Given the description of an element on the screen output the (x, y) to click on. 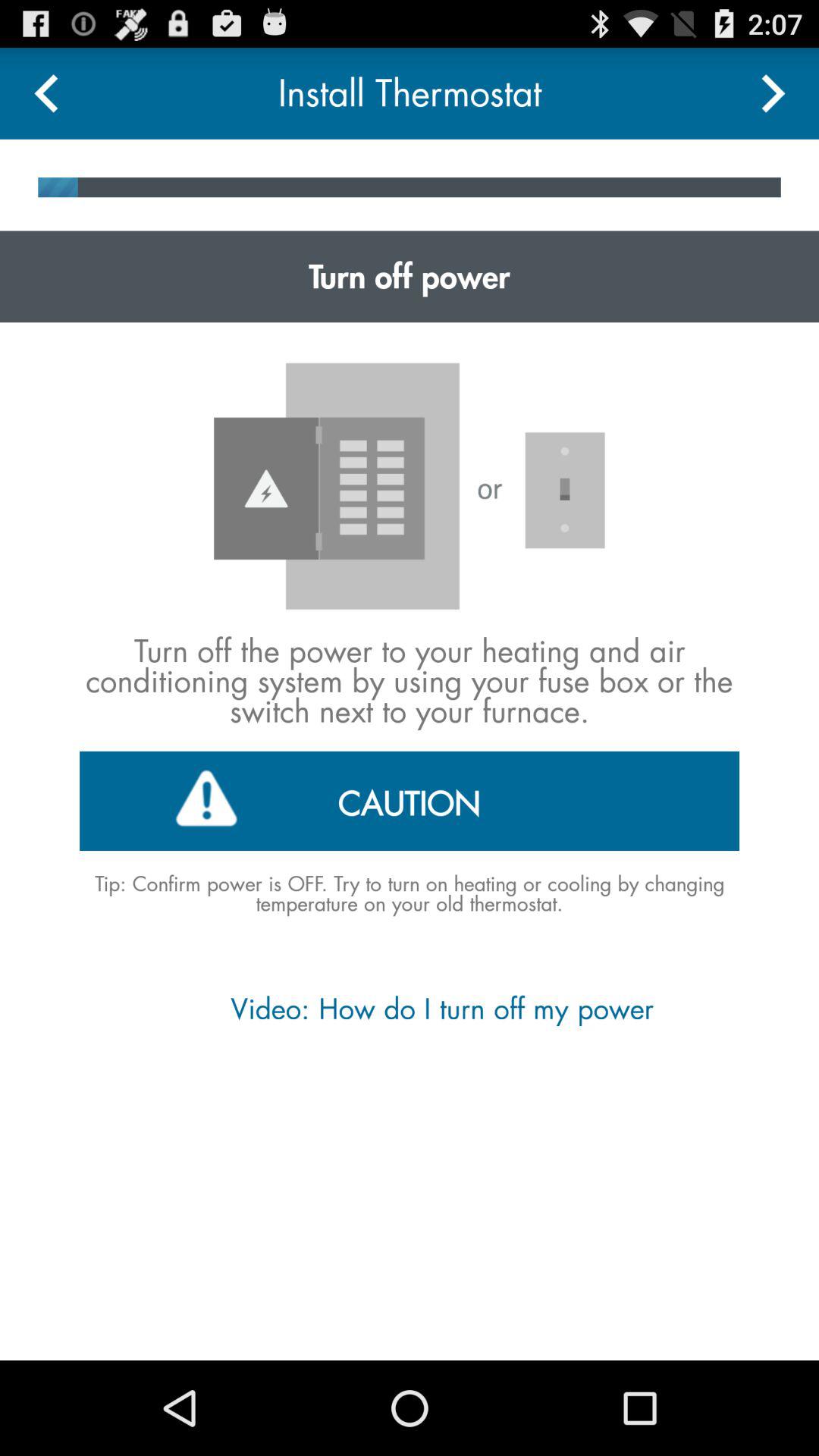
go back (45, 93)
